Given the description of an element on the screen output the (x, y) to click on. 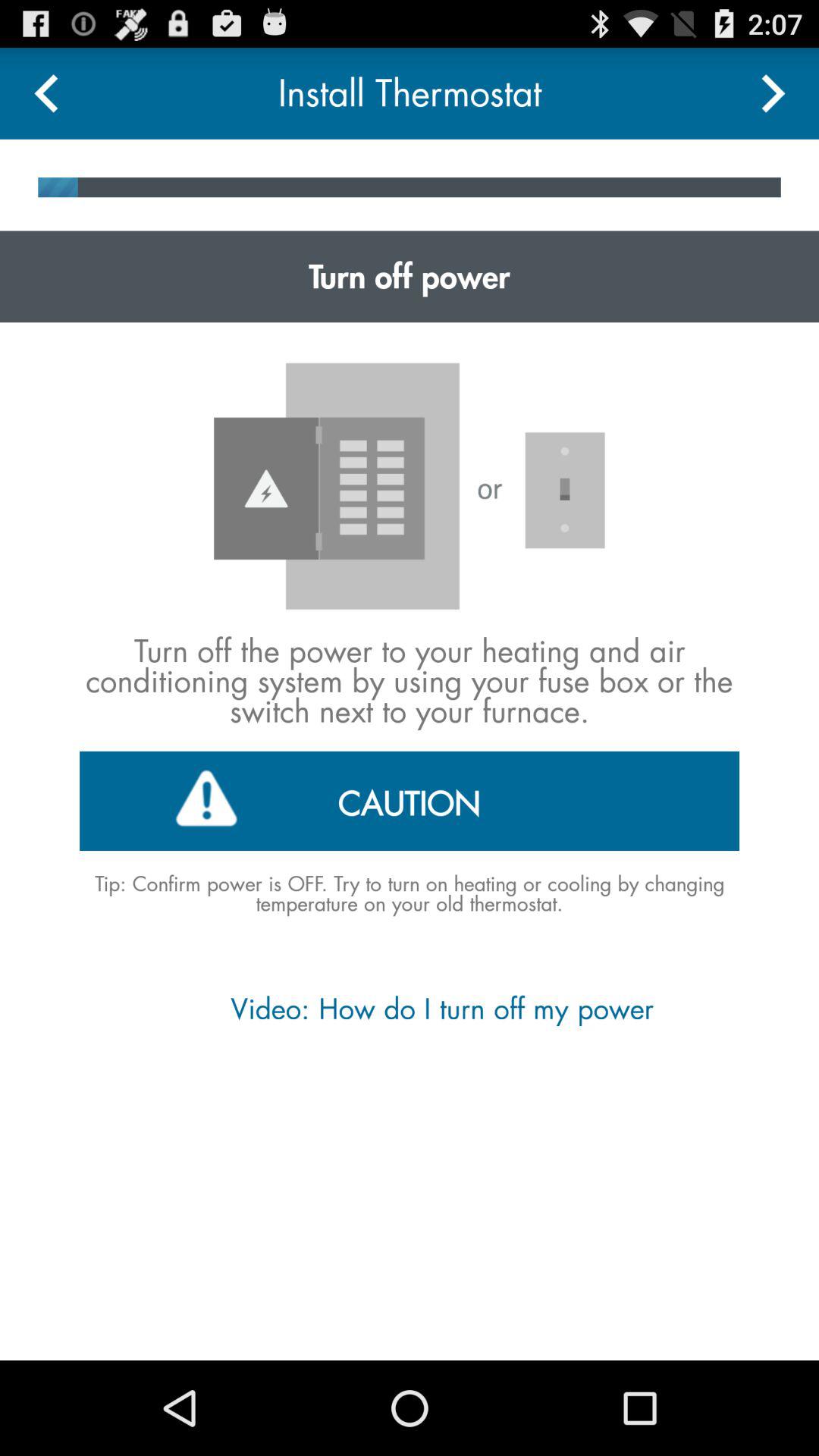
go back (45, 93)
